Given the description of an element on the screen output the (x, y) to click on. 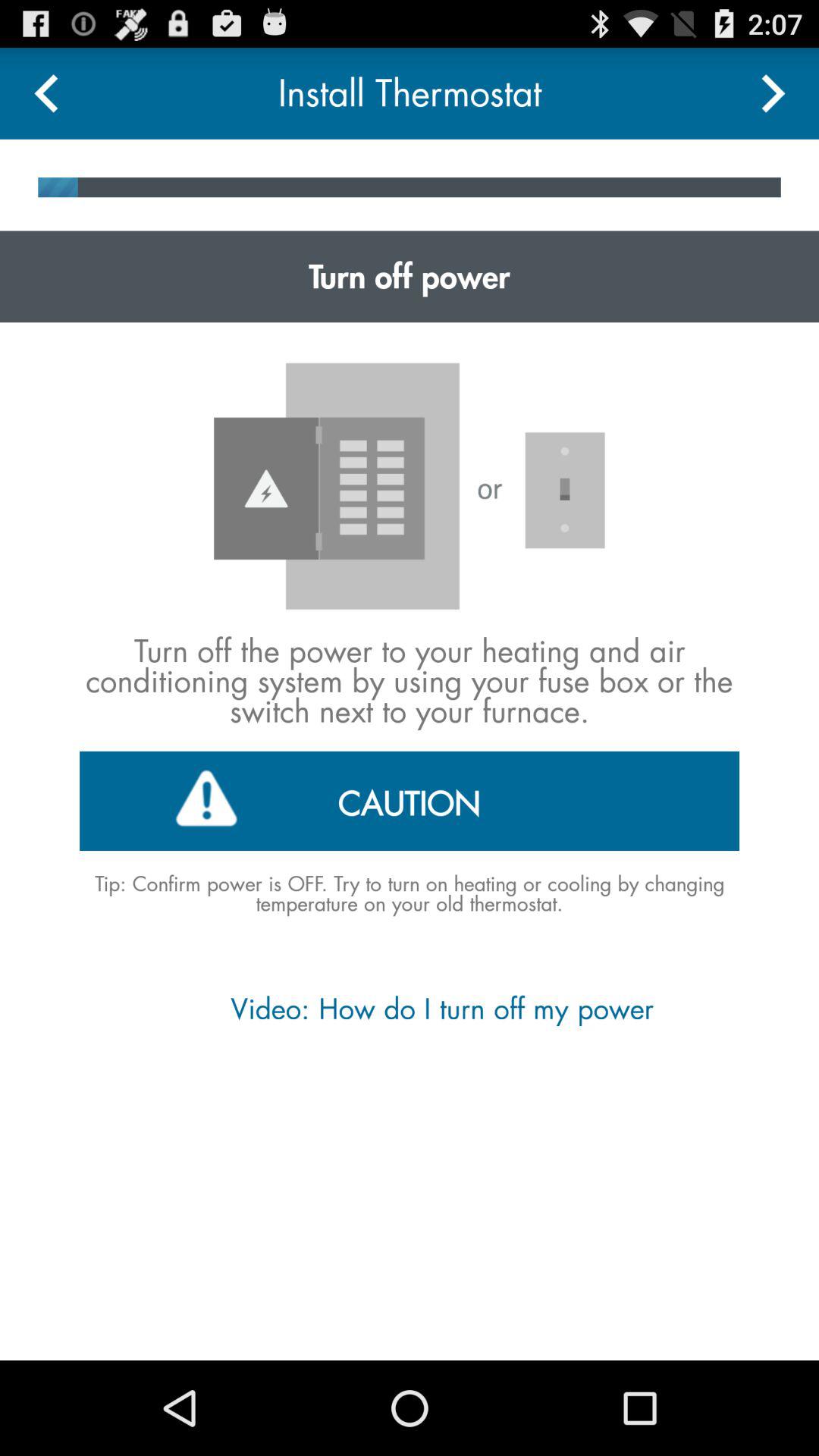
go back (45, 93)
